Given the description of an element on the screen output the (x, y) to click on. 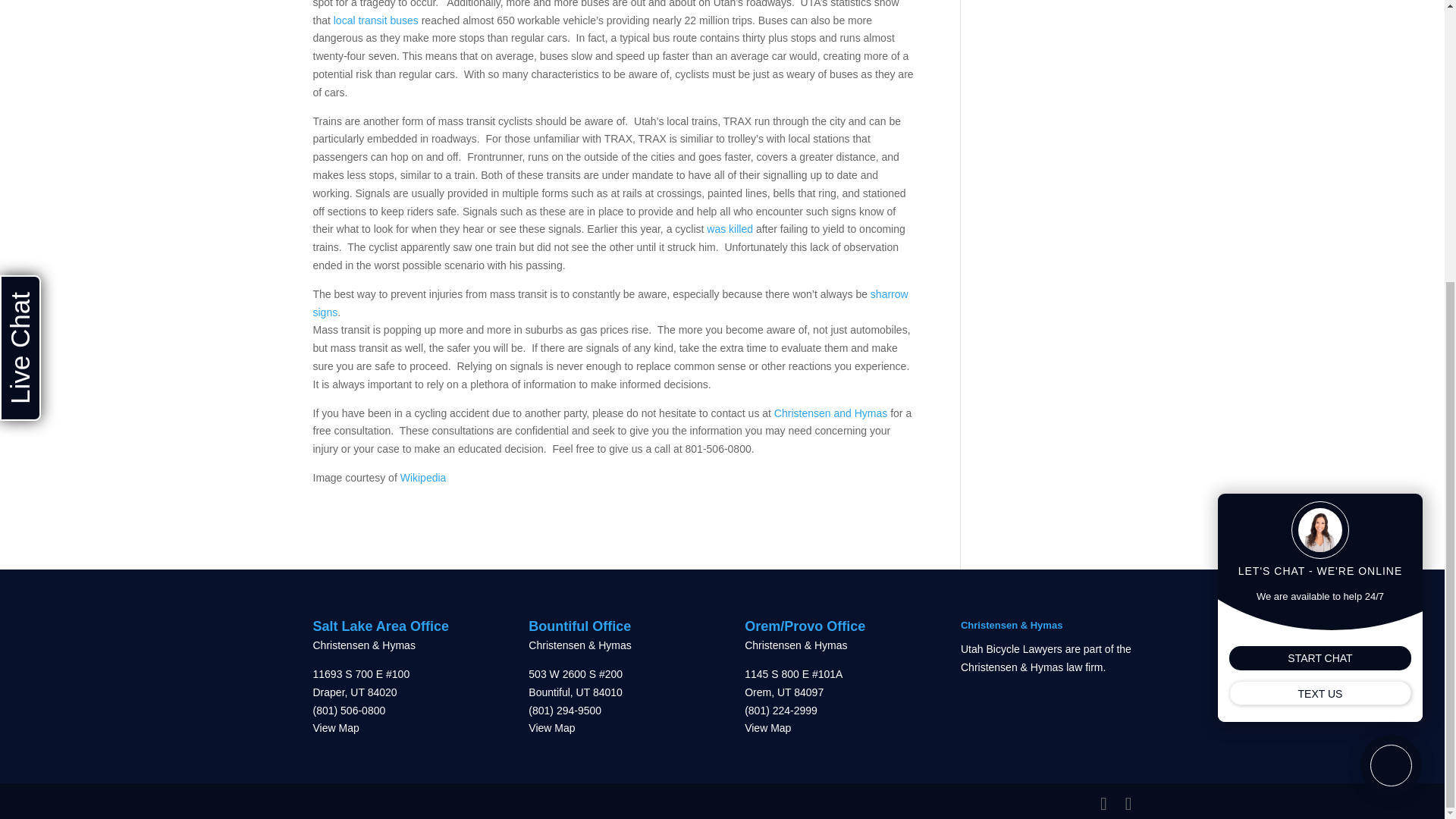
Utah Cyclist (729, 228)
Christensen and Hymas (831, 412)
sharrow signs (610, 303)
local transit buses (377, 20)
Christensen and Hymas (831, 412)
Sharrow the Road (610, 303)
View Map (551, 727)
Wikipedia (423, 477)
was killed (729, 228)
View Map (767, 727)
View Map (335, 727)
Local transit (377, 20)
UTA Trax (423, 477)
